Given the description of an element on the screen output the (x, y) to click on. 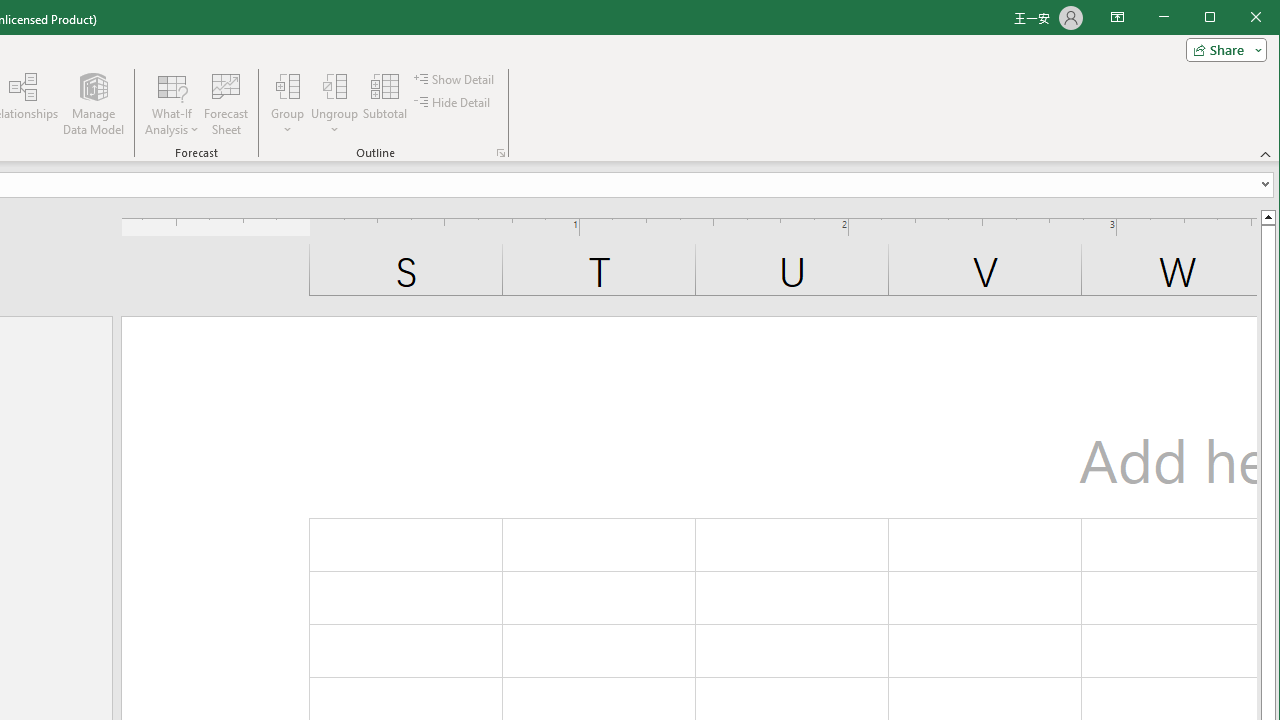
Collapse the Ribbon (1266, 154)
Group and Outline Settings (500, 152)
Group... (287, 86)
Group... (287, 104)
Subtotal (384, 104)
Forecast Sheet (226, 104)
More Options (334, 123)
What-If Analysis (172, 104)
Share (1222, 49)
Ungroup... (334, 104)
Maximize (1238, 18)
Ungroup... (334, 86)
Manage Data Model (93, 104)
Close (1261, 18)
